Given the description of an element on the screen output the (x, y) to click on. 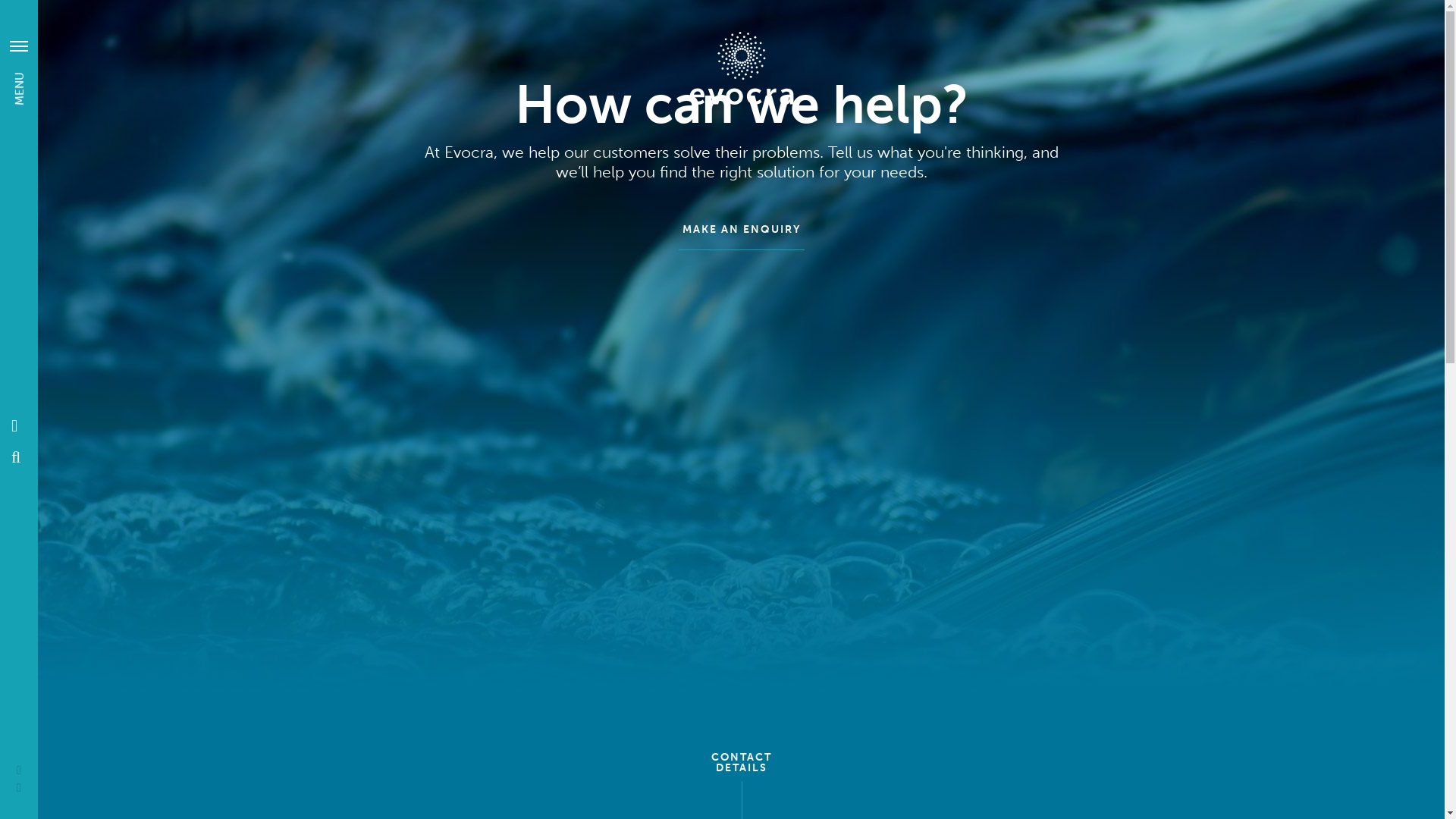
Evocra Facebook Element type: text (18, 769)
Evocra LinkedIn Element type: text (18, 786)
CONTACT
DETAILS Element type: text (741, 766)
Evocra Home Element type: text (15, 424)
Evocra home Element type: text (740, 67)
CONTACT DETAILS
Contact Details Element type: text (18, 51)
Search Evocra Element type: text (15, 455)
CONTACT
Contact Element type: text (18, 30)
MAKE AN ENQUIRY Element type: text (740, 230)
